Given the description of an element on the screen output the (x, y) to click on. 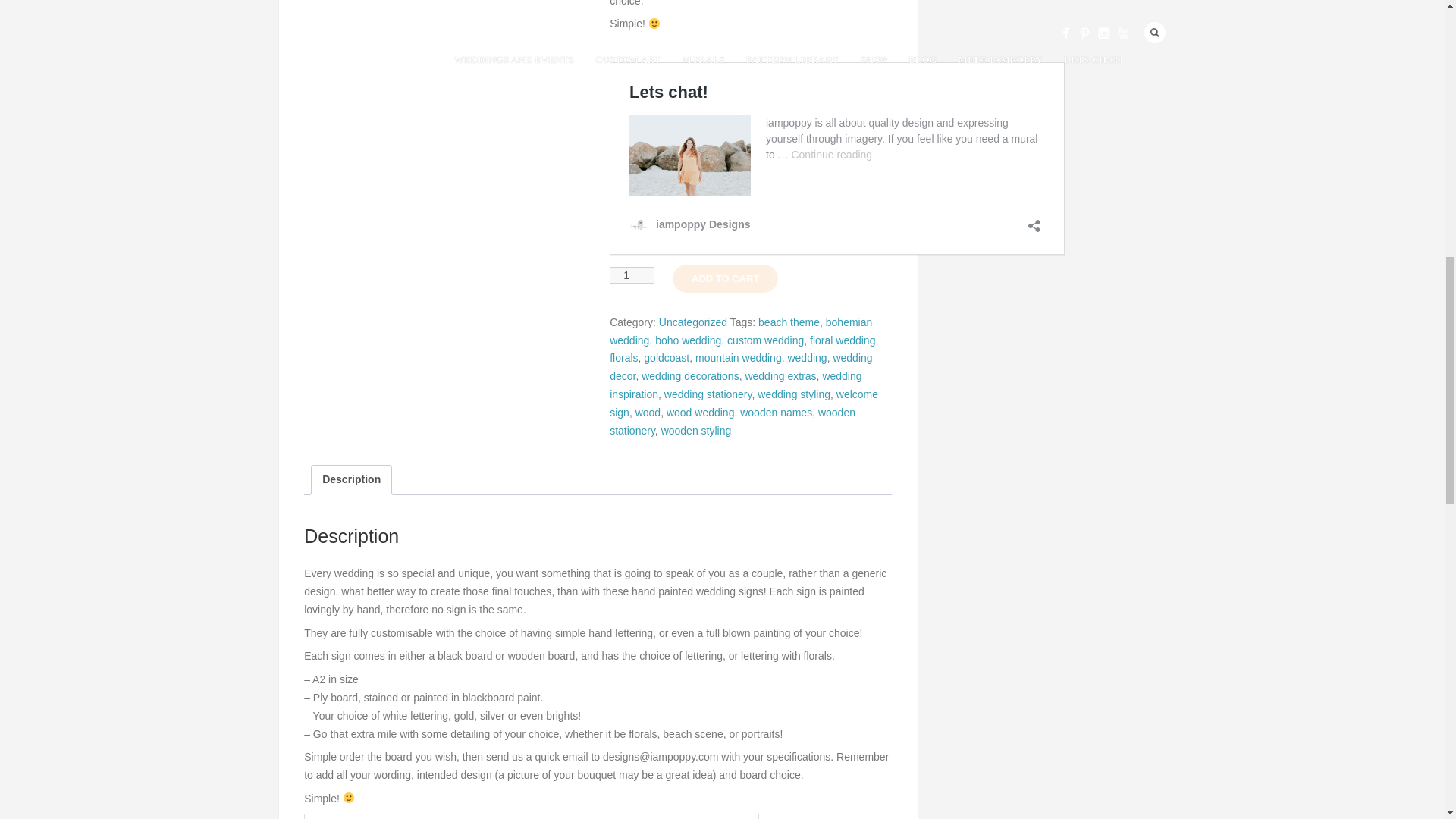
1 (631, 274)
